Given the description of an element on the screen output the (x, y) to click on. 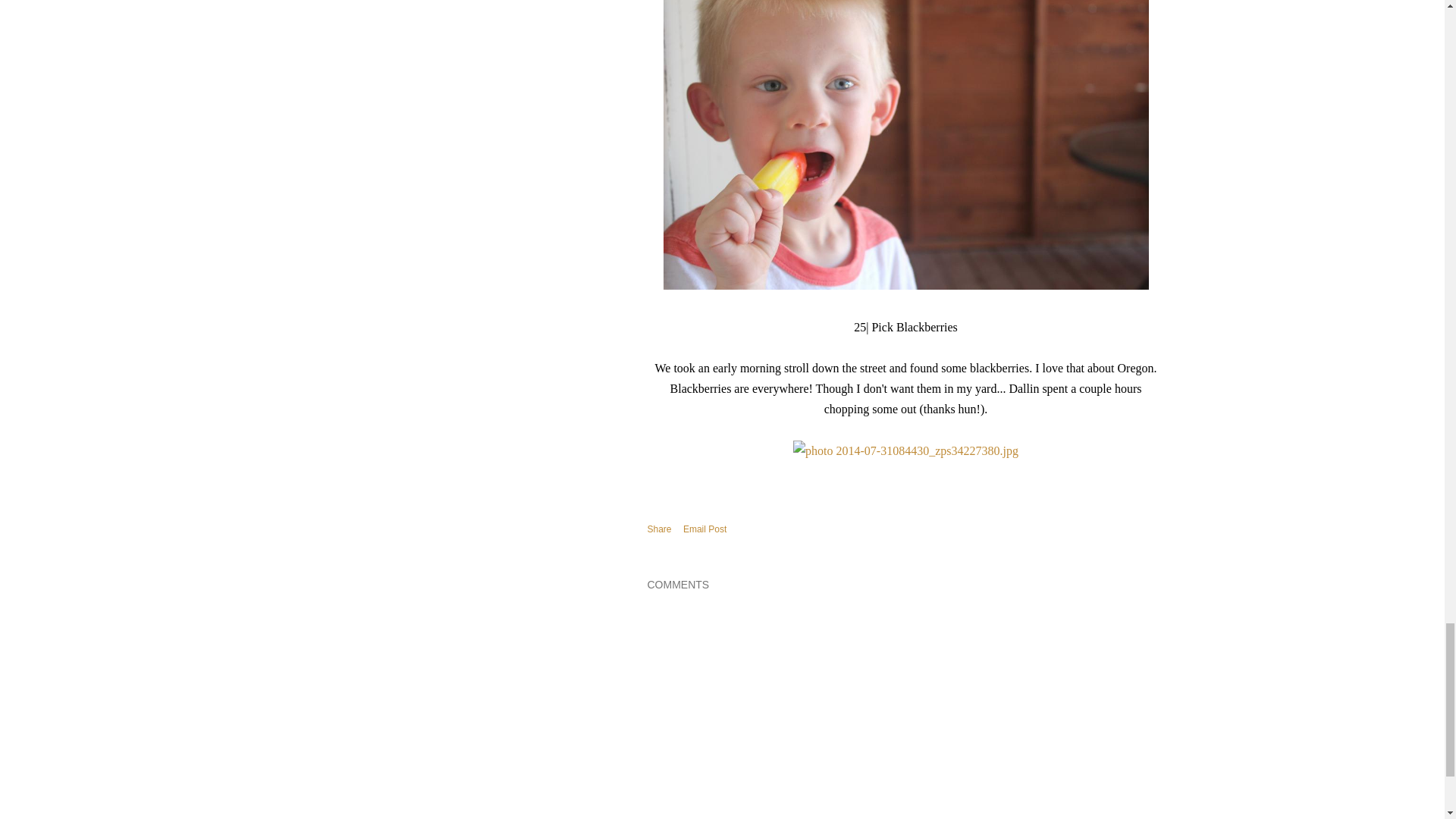
Email Post (704, 528)
Share (659, 529)
